Given the description of an element on the screen output the (x, y) to click on. 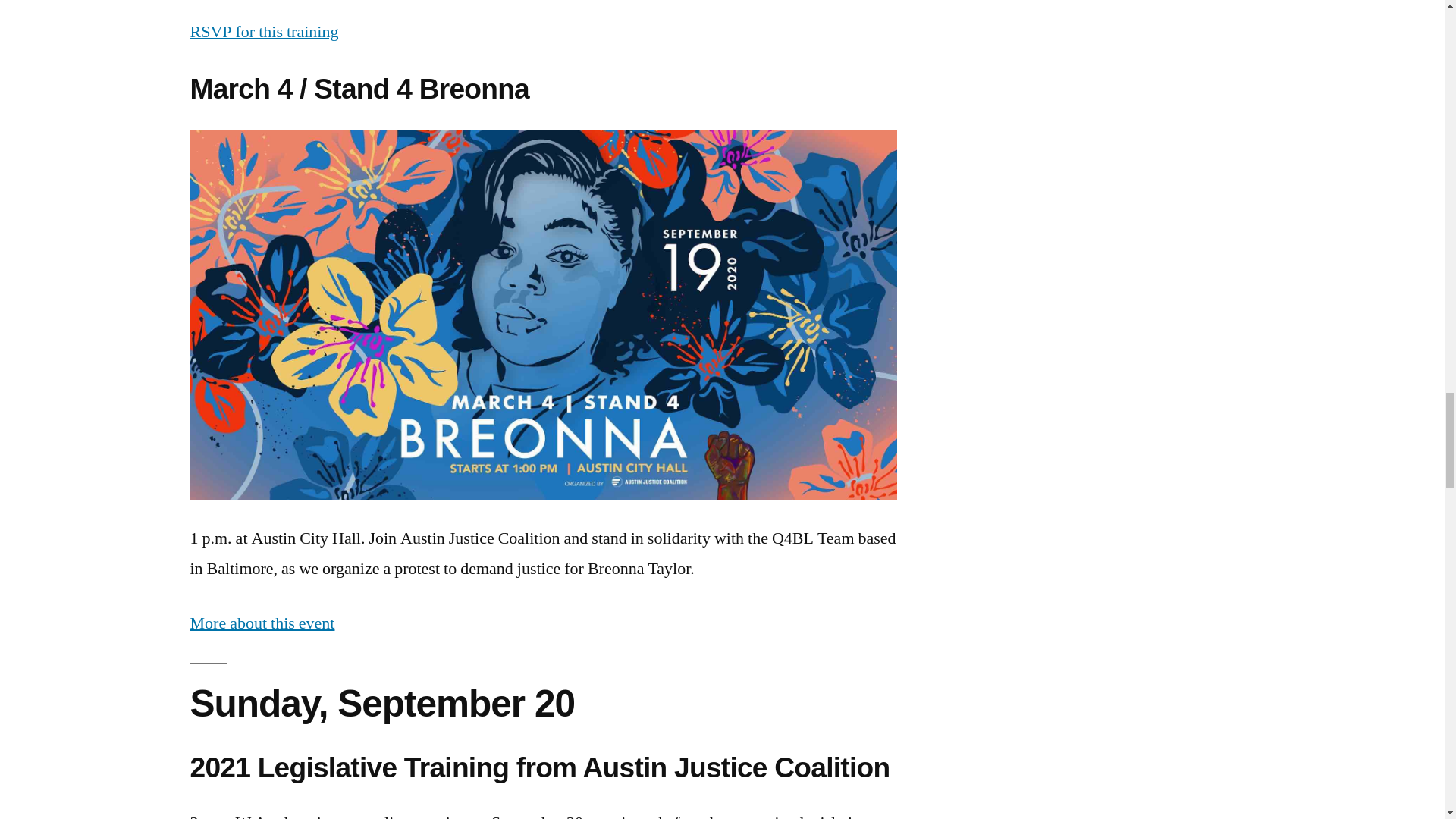
More about this event (261, 622)
RSVP for this training (263, 31)
